Given the description of an element on the screen output the (x, y) to click on. 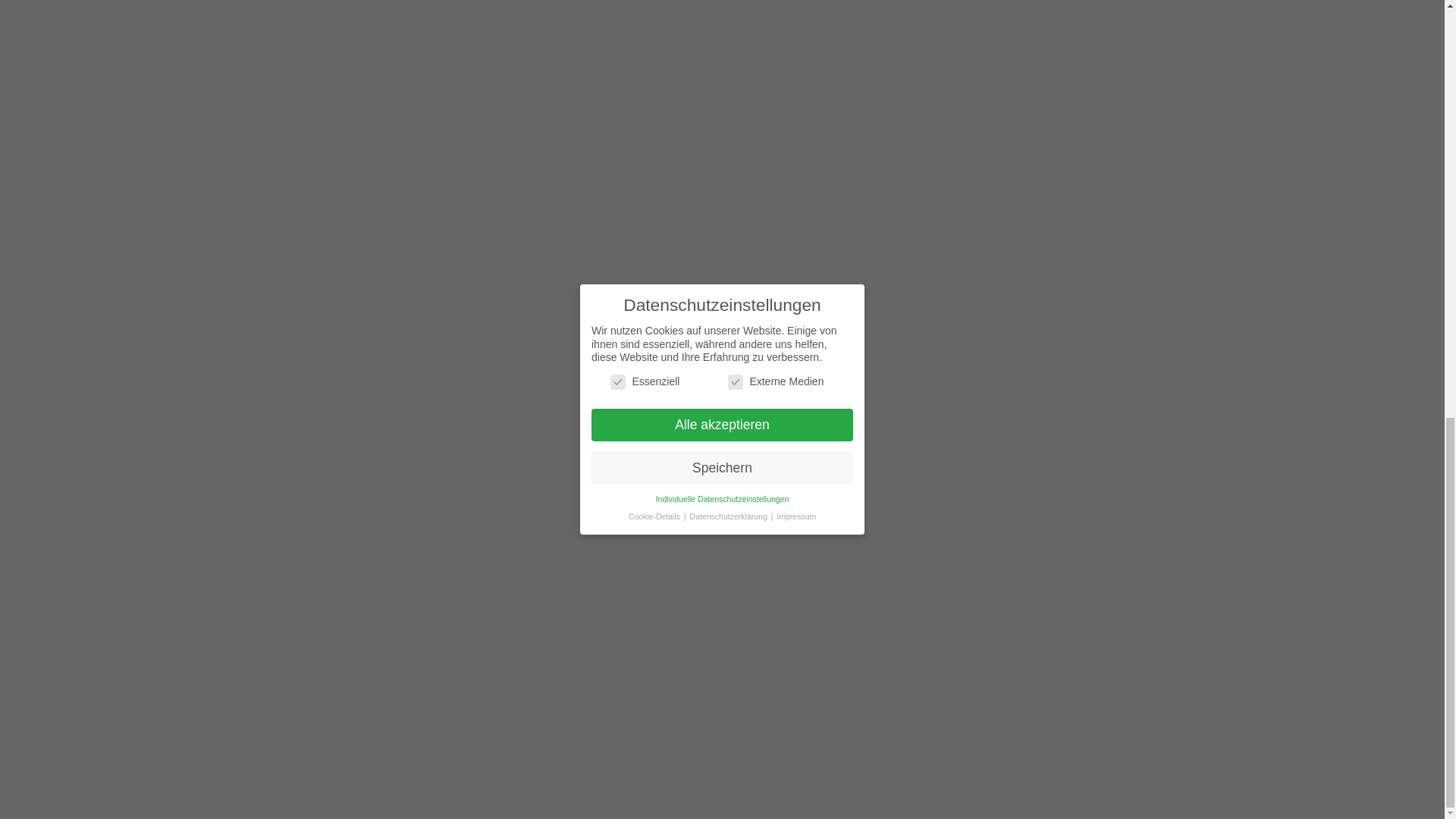
DanielGab (451, 314)
Channa Bleheri Geschlecht (1120, 70)
Gachua FO Inlesee - Der Nano-Channa (1020, 70)
